Given the description of an element on the screen output the (x, y) to click on. 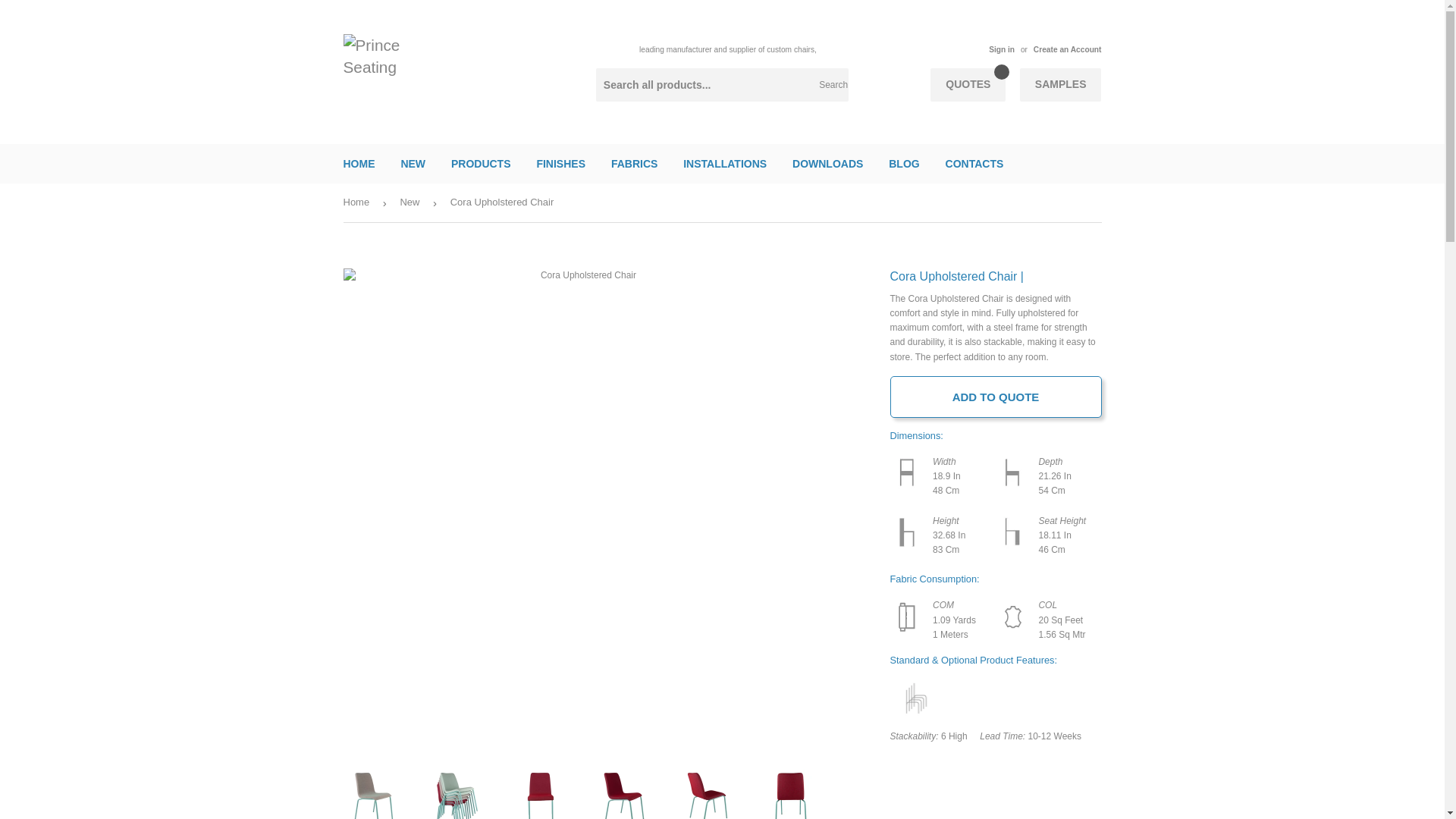
SAMPLES (1061, 84)
QUOTES (968, 84)
Sign in (1001, 49)
Search (830, 85)
Create an Account (1067, 49)
